Given the description of an element on the screen output the (x, y) to click on. 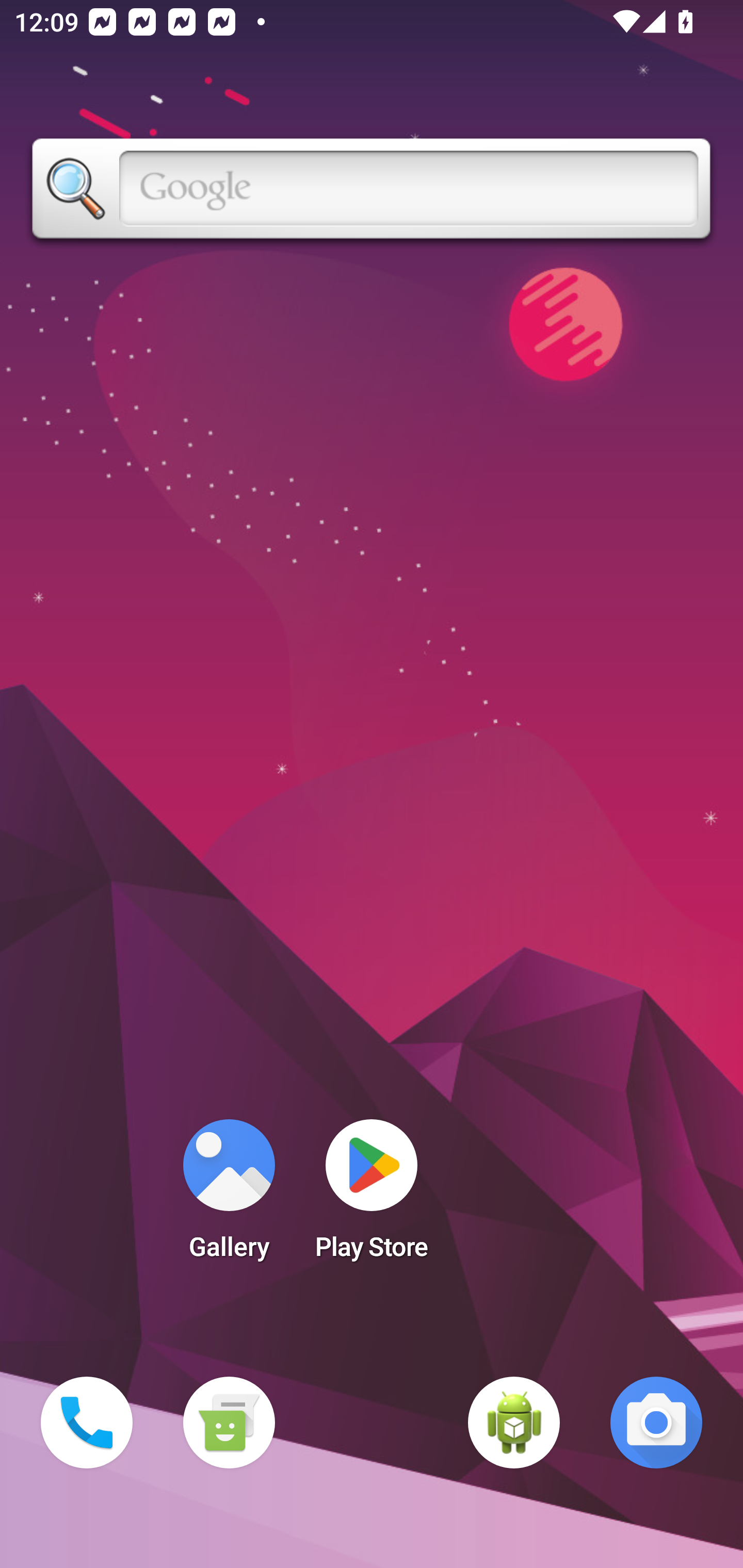
Gallery (228, 1195)
Play Store (371, 1195)
Phone (86, 1422)
Messaging (228, 1422)
WebView Browser Tester (513, 1422)
Camera (656, 1422)
